Given the description of an element on the screen output the (x, y) to click on. 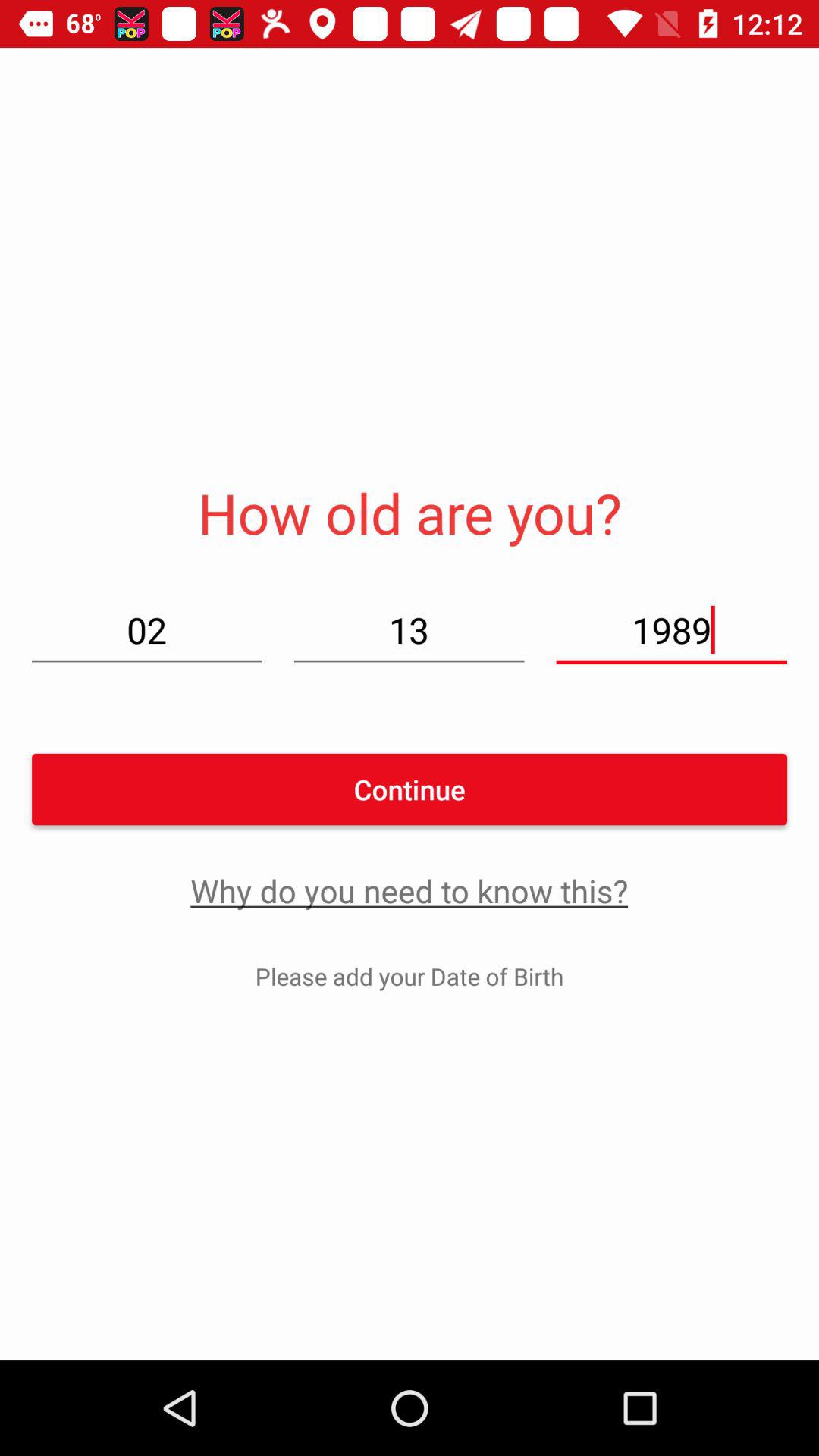
turn on 02 icon (146, 629)
